Given the description of an element on the screen output the (x, y) to click on. 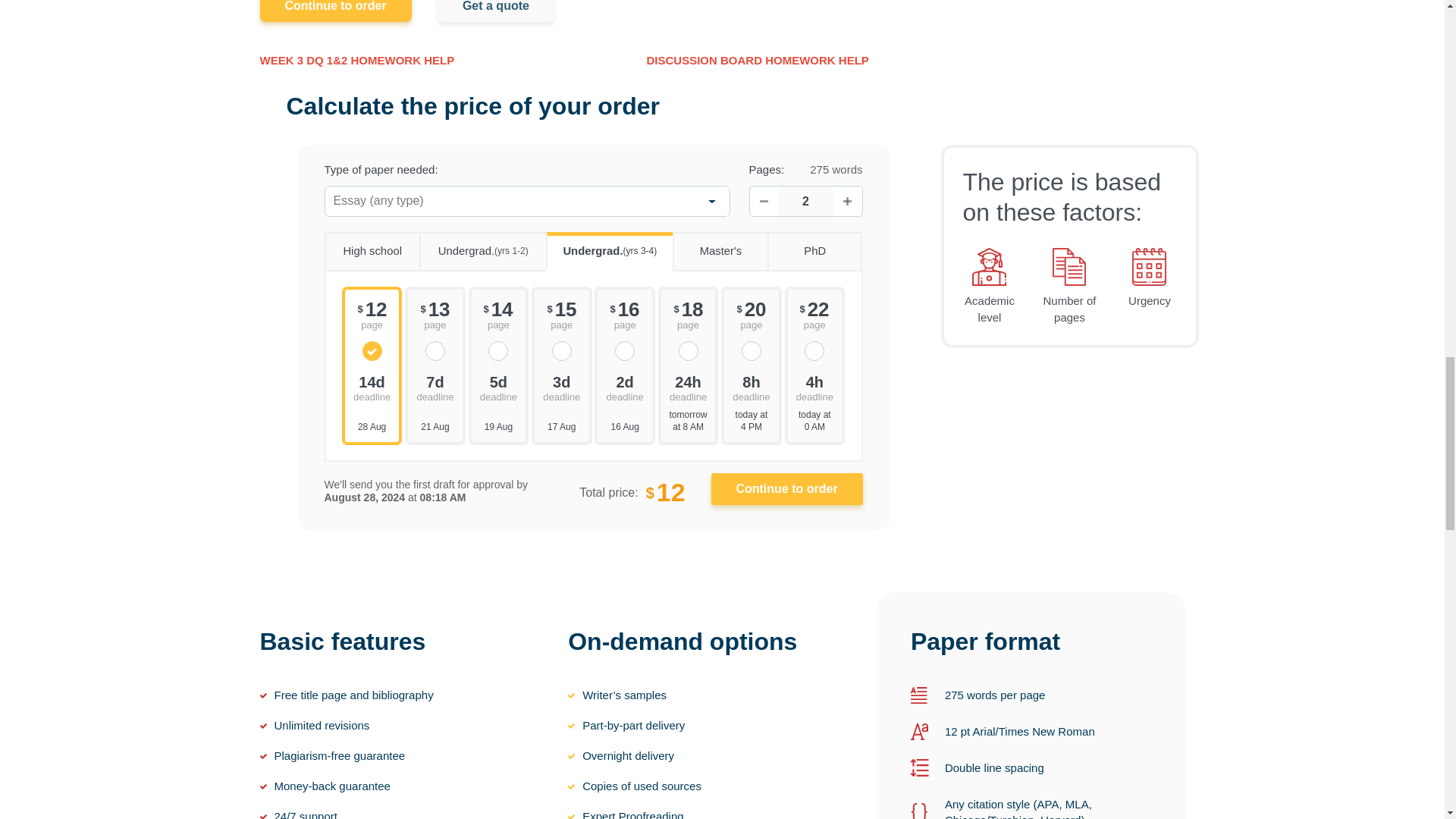
2 days (624, 387)
Decrease (763, 201)
8 hours (751, 387)
3 days (561, 387)
7 days (435, 387)
Get a quote (496, 11)
5 days (499, 387)
Continue to order (787, 489)
Continue to order (334, 11)
2 (804, 201)
